Given the description of an element on the screen output the (x, y) to click on. 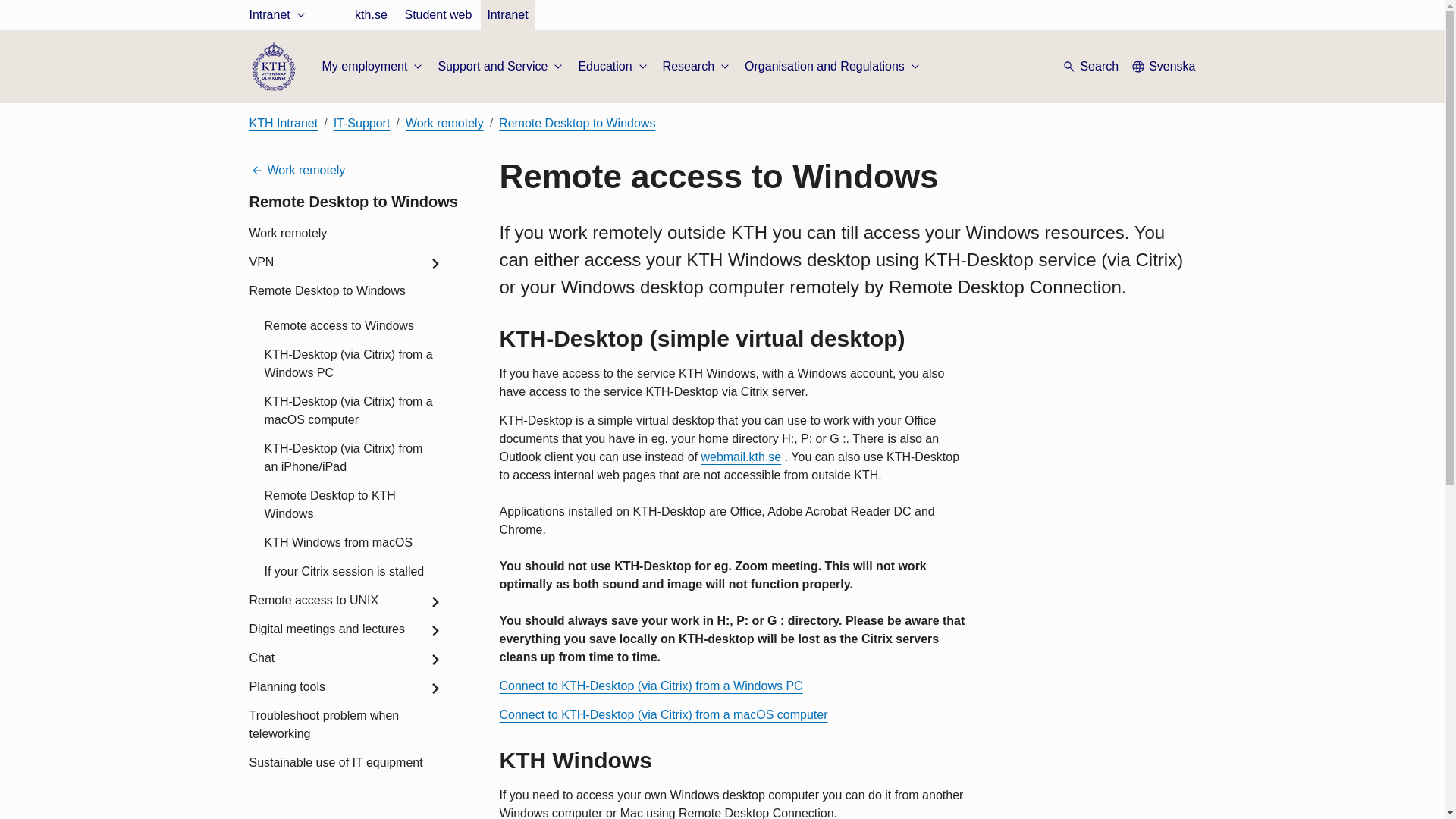
Student web (312, 69)
Education (613, 66)
kth.se (295, 51)
Organisation and Regulations (833, 66)
Research (697, 66)
kth.se (370, 15)
Intranet (507, 15)
My employment (373, 66)
Support and Service (502, 66)
Student web (437, 15)
